Given the description of an element on the screen output the (x, y) to click on. 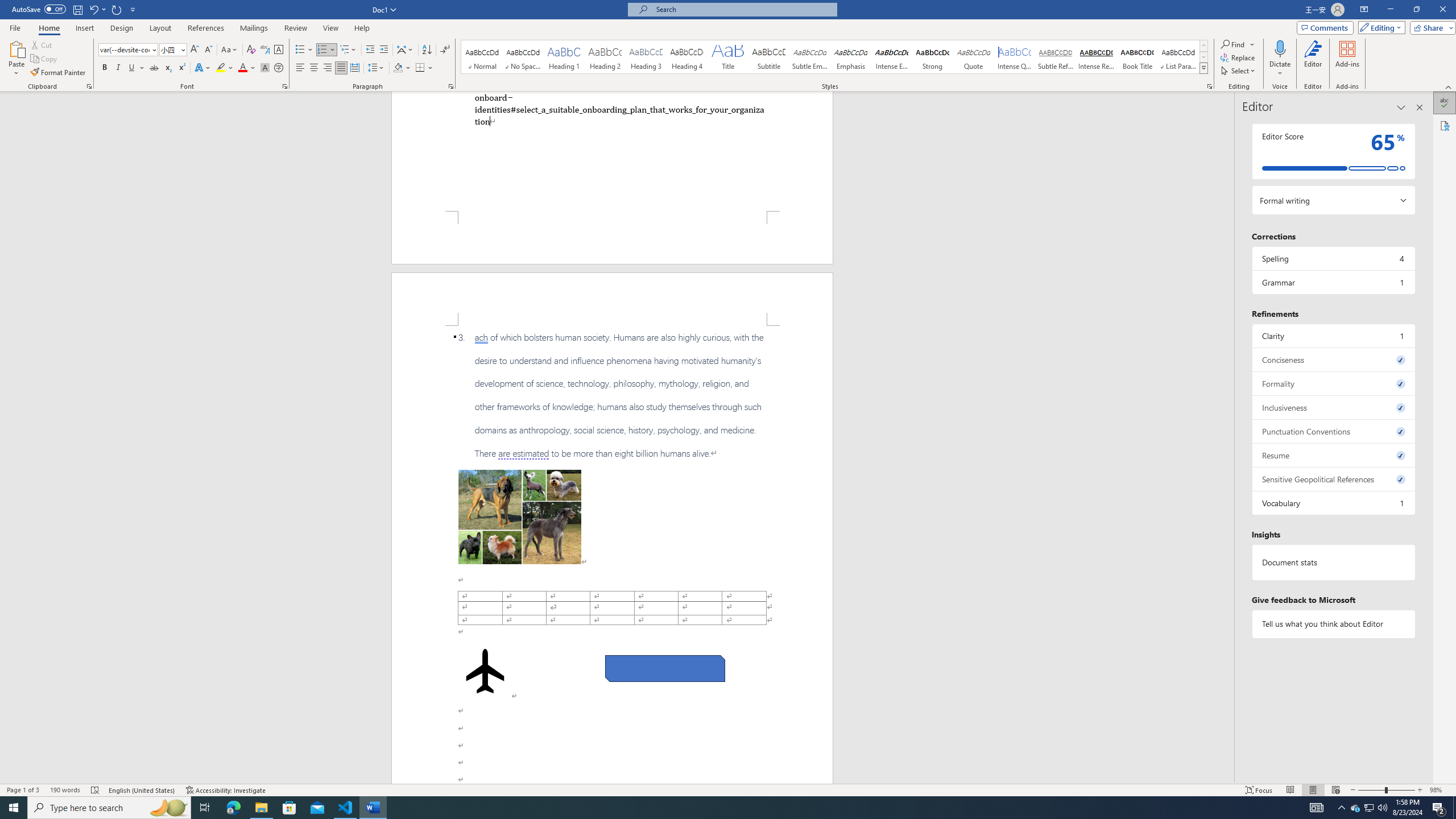
Tell us what you think about Editor (1333, 624)
Editor Score 65% (1333, 151)
Conciseness, 0 issues. Press space or enter to review items. (1333, 359)
Accessibility (1444, 125)
3. (611, 395)
Grammar, 1 issue. Press space or enter to review items. (1333, 282)
Page Number Page 1 of 3 (22, 790)
